Given the description of an element on the screen output the (x, y) to click on. 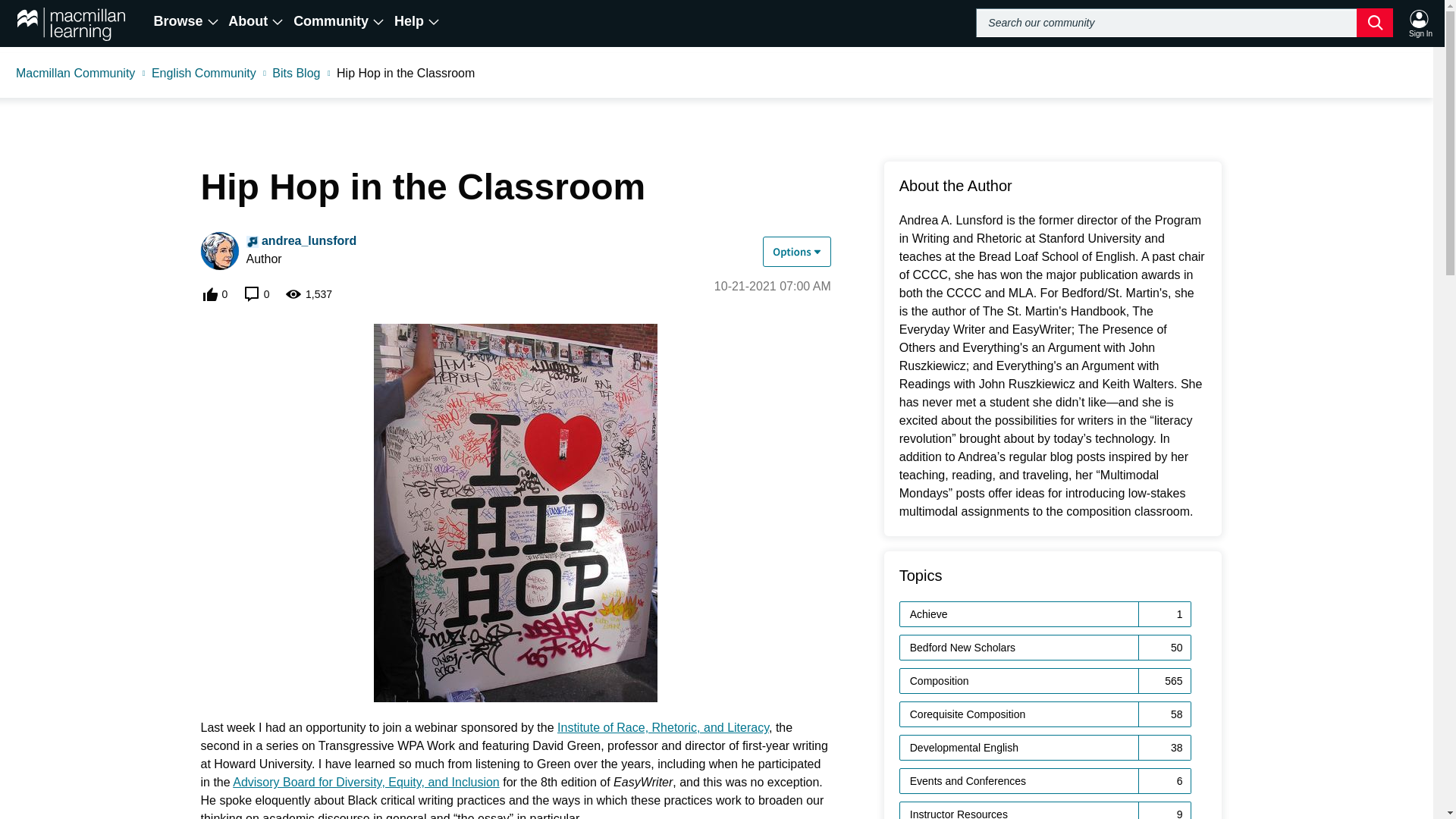
Author (251, 241)
Show option menu (796, 251)
Posted on (772, 286)
Search (1184, 22)
Browse (186, 21)
About (255, 21)
